Given the description of an element on the screen output the (x, y) to click on. 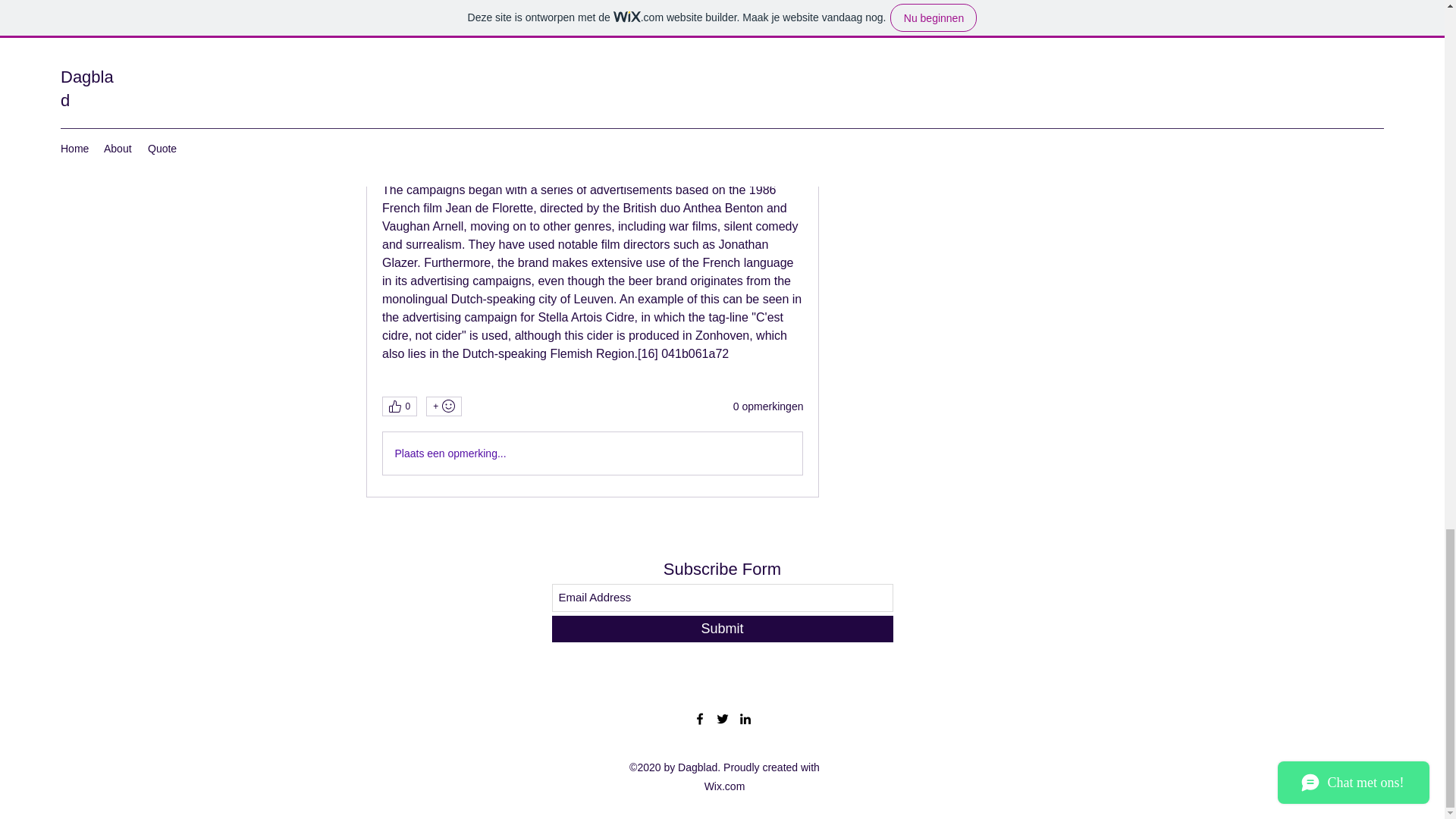
0 opmerkingen (768, 406)
Plaats een opmerking... (591, 453)
Submit (722, 628)
